Given the description of an element on the screen output the (x, y) to click on. 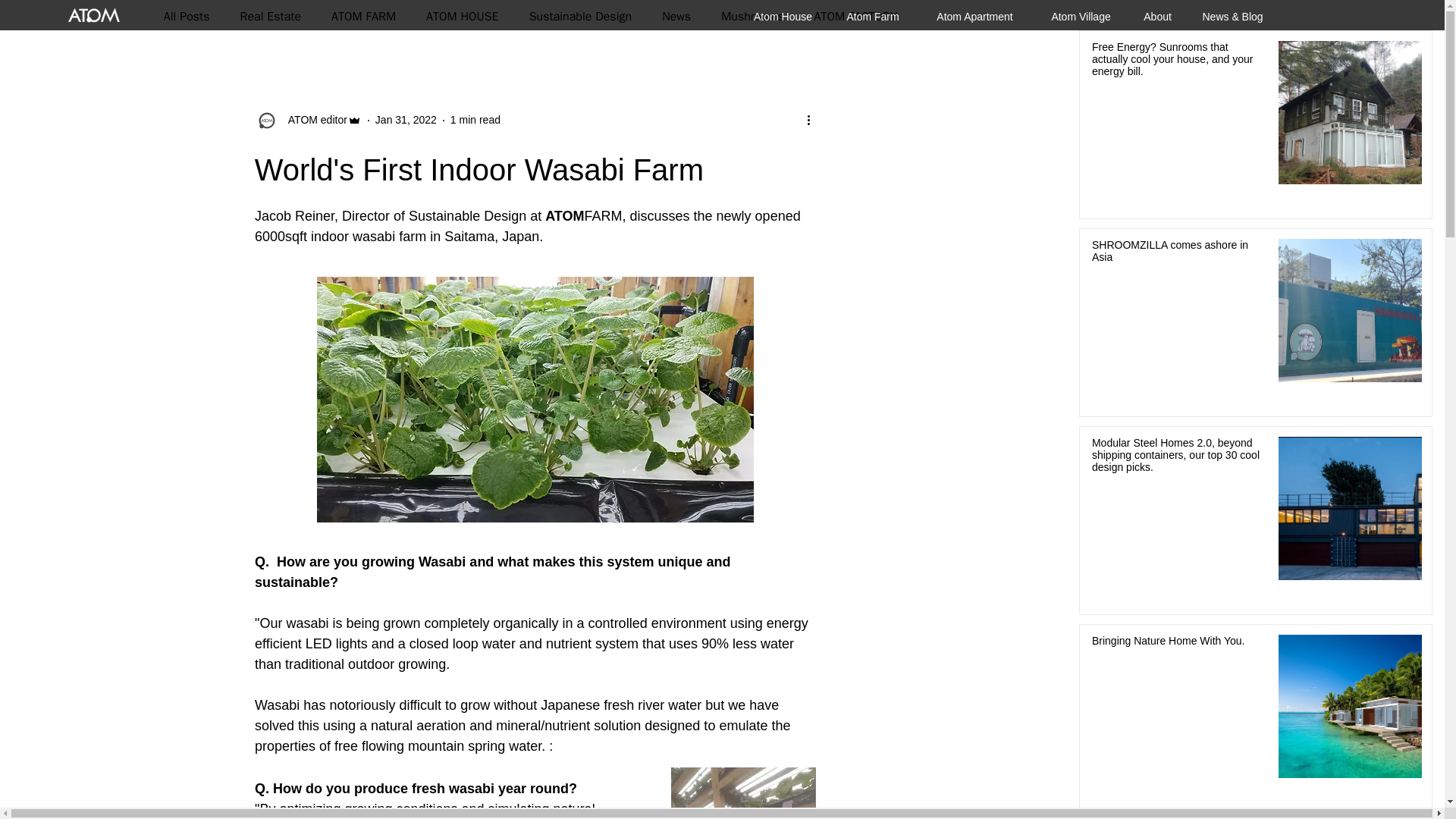
Jan 31, 2022 (405, 119)
All Posts (186, 17)
Atom Farm (872, 9)
News (676, 17)
ATOM editor (313, 119)
1 min read (474, 119)
Atom House (782, 9)
Atom Apartment (974, 9)
Sustainable Design (580, 17)
Mushrooms (751, 17)
